Given the description of an element on the screen output the (x, y) to click on. 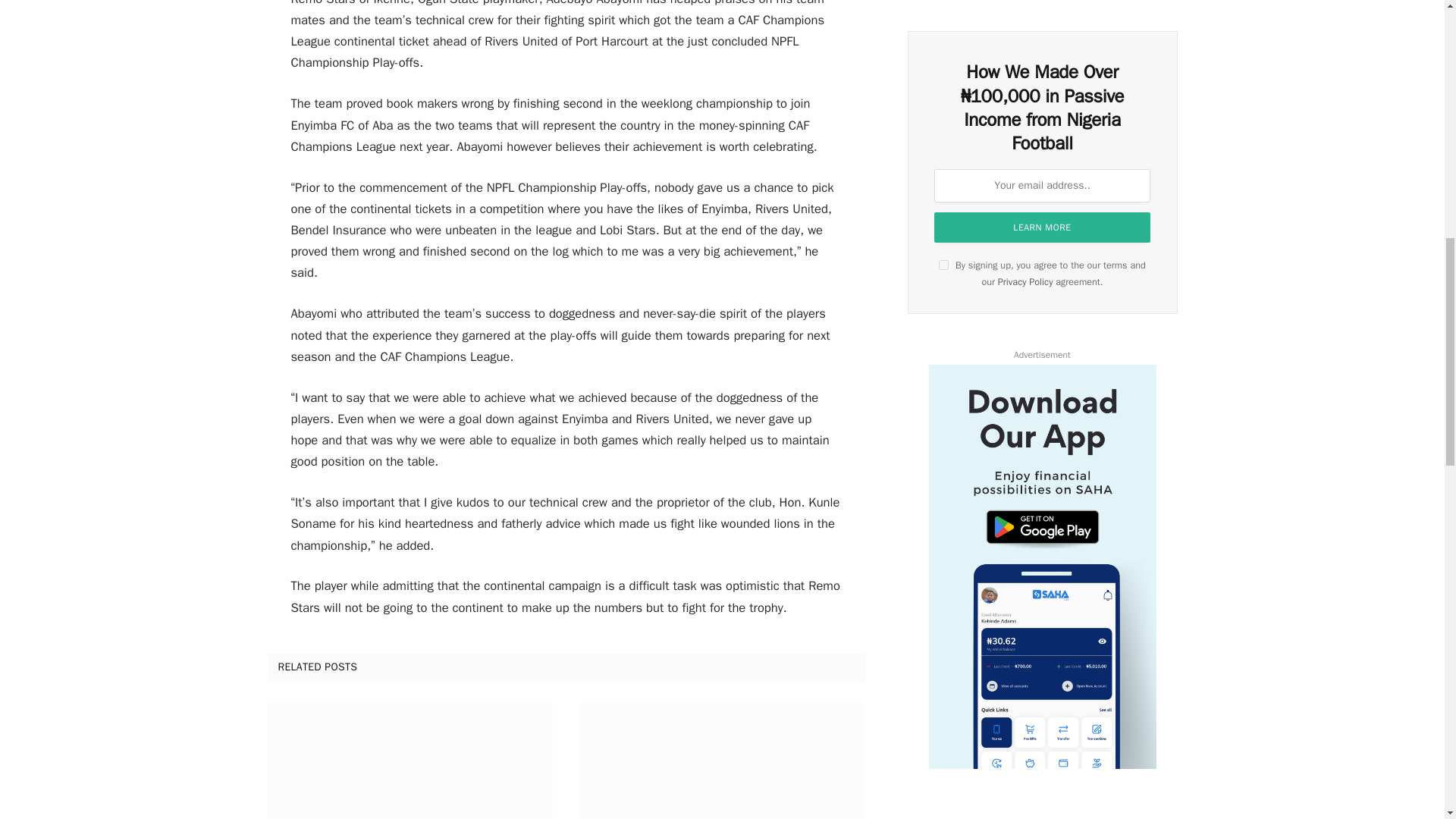
on (944, 265)
Learn More (1042, 227)
